Given the description of an element on the screen output the (x, y) to click on. 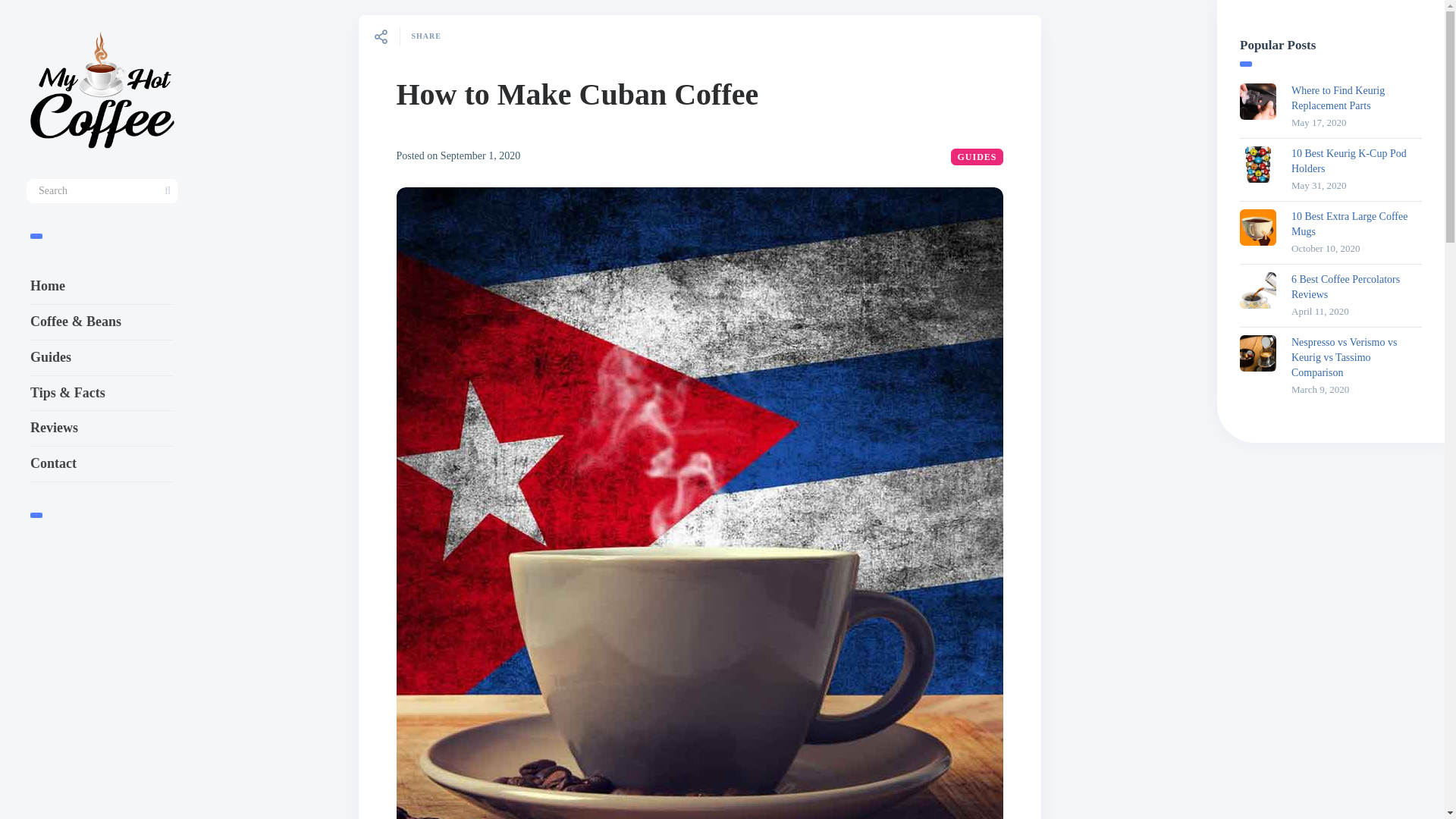
GUIDES (976, 156)
Search (20, 9)
Contact (91, 463)
Search for: (101, 191)
Home (64, 286)
Where to Find Keurig Replacement Parts (1258, 101)
Guides (74, 357)
How to Make Cuban Coffee (577, 93)
Reviews (85, 428)
Where to Find Keurig Replacement Parts (1356, 98)
10 Best Keurig K-Cup Pod Holders (1258, 164)
